Given the description of an element on the screen output the (x, y) to click on. 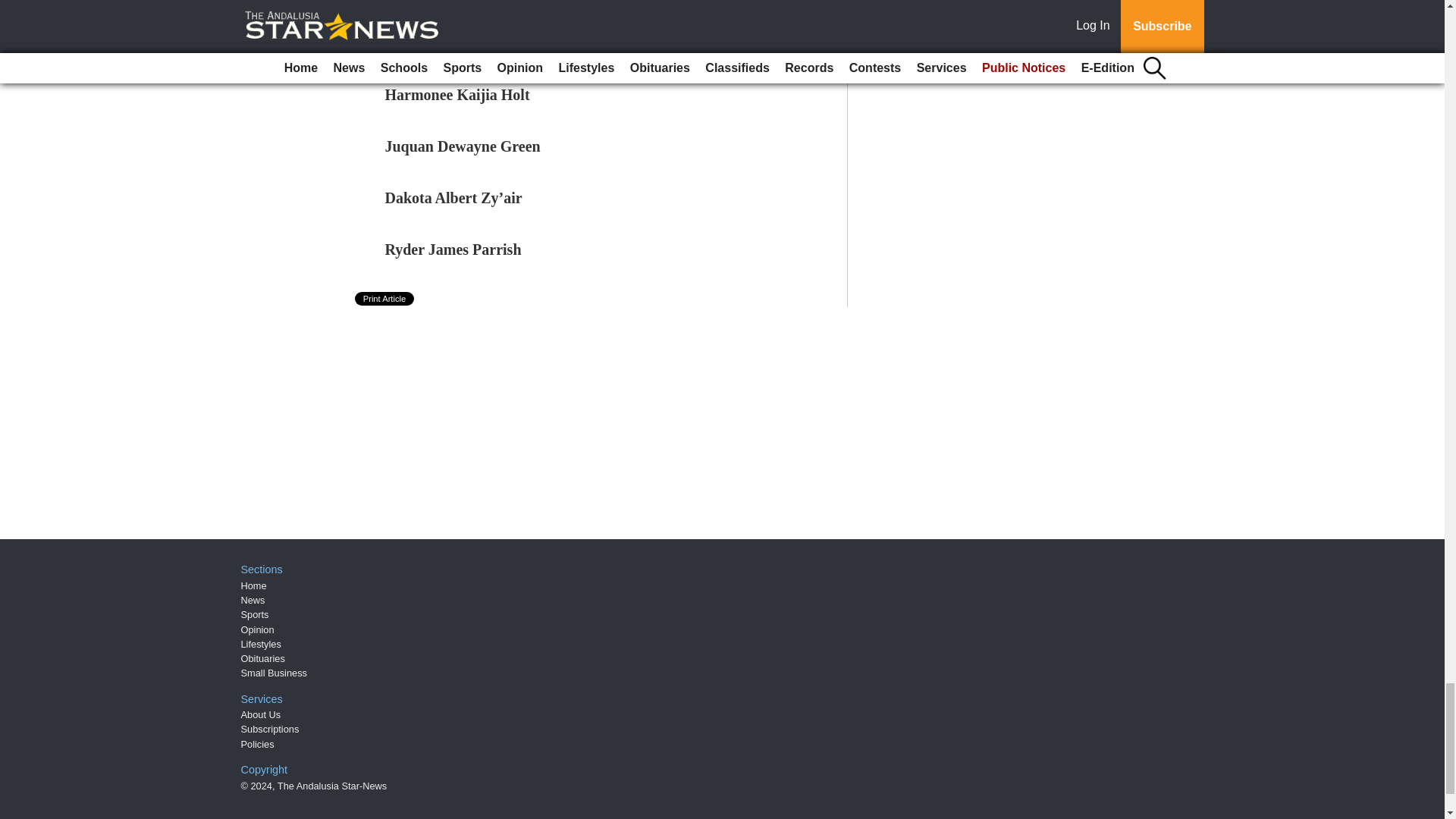
Ryder James Parrish (453, 248)
Ryder James Parrish (453, 248)
Harmonee Kaijia Holt (457, 94)
Juquan Dewayne Green (462, 146)
Home (253, 585)
News (252, 600)
Sports (255, 614)
thetimes.co.uk (435, 29)
Print Article (384, 298)
Obituaries (263, 658)
Juquan Dewayne Green (462, 146)
Harmonee Kaijia Holt (457, 94)
Subscriptions (270, 728)
Opinion (258, 629)
About Us (261, 714)
